Given the description of an element on the screen output the (x, y) to click on. 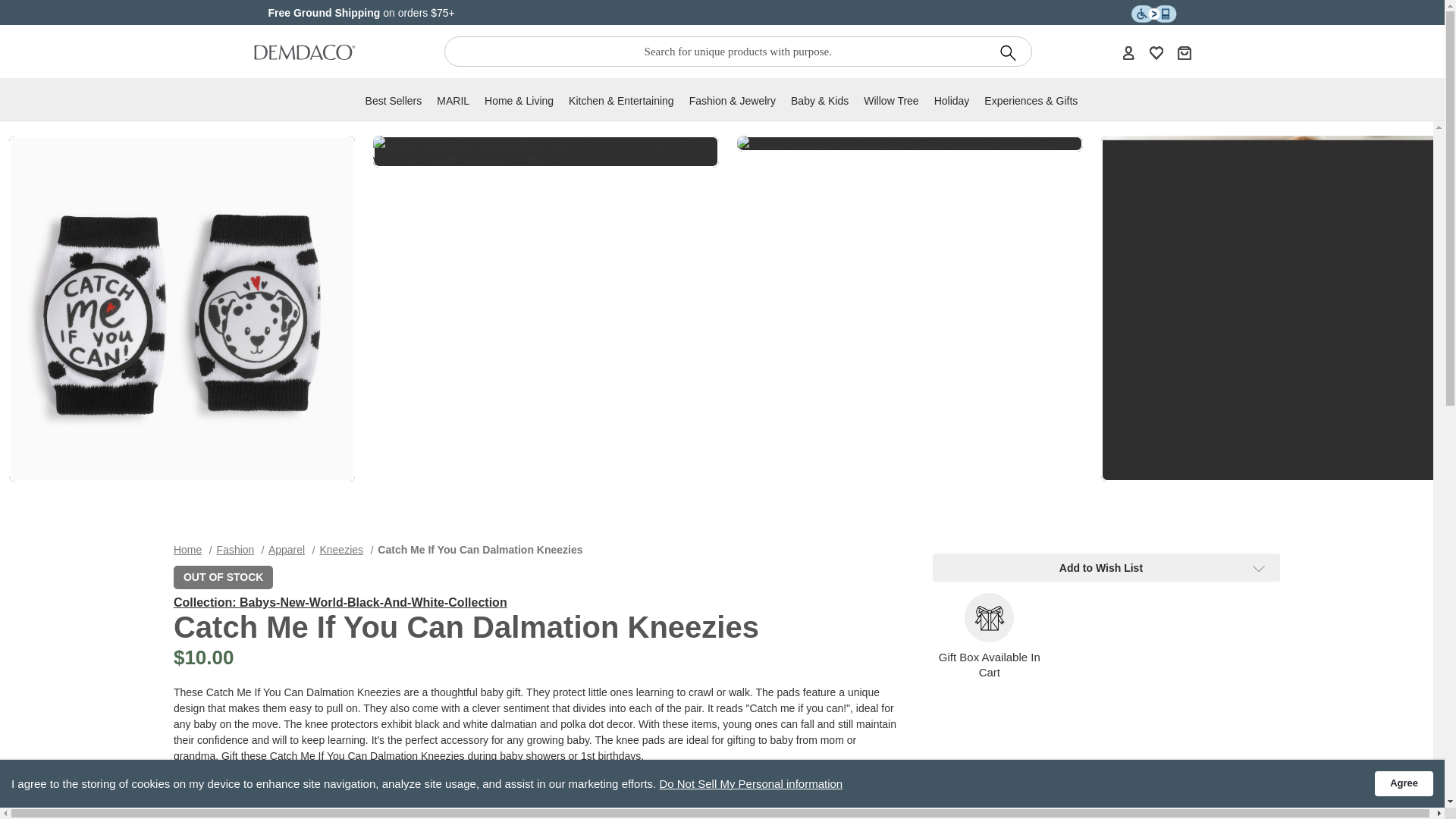
DEMDACO (303, 51)
submit (1008, 52)
submit (1008, 52)
Best Sellers (393, 104)
